Given the description of an element on the screen output the (x, y) to click on. 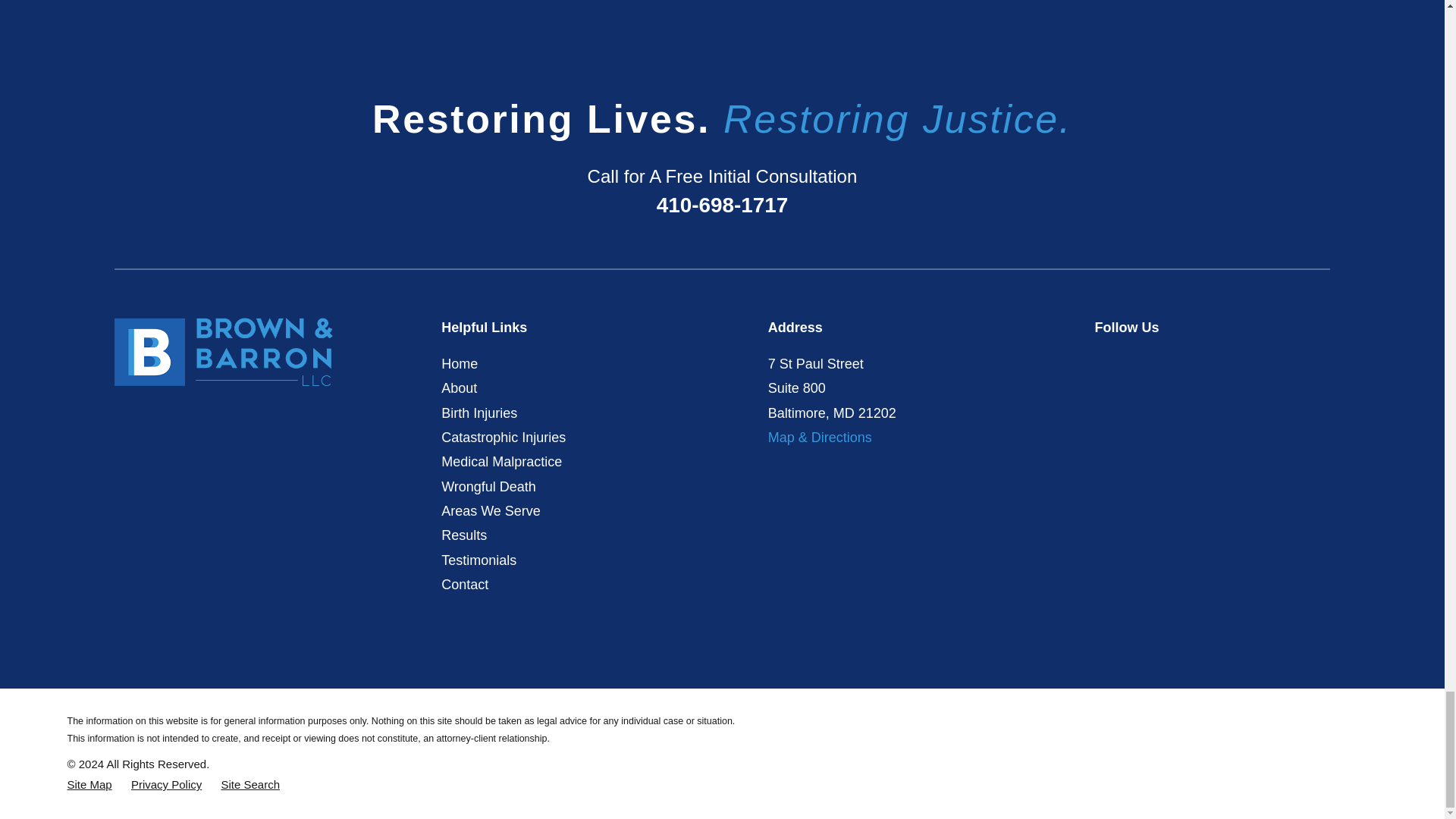
Twitter (1138, 361)
YouTube (1172, 361)
LinkedIn (1205, 361)
Instagram (1240, 361)
Facebook (1103, 361)
Home (224, 351)
